Given the description of an element on the screen output the (x, y) to click on. 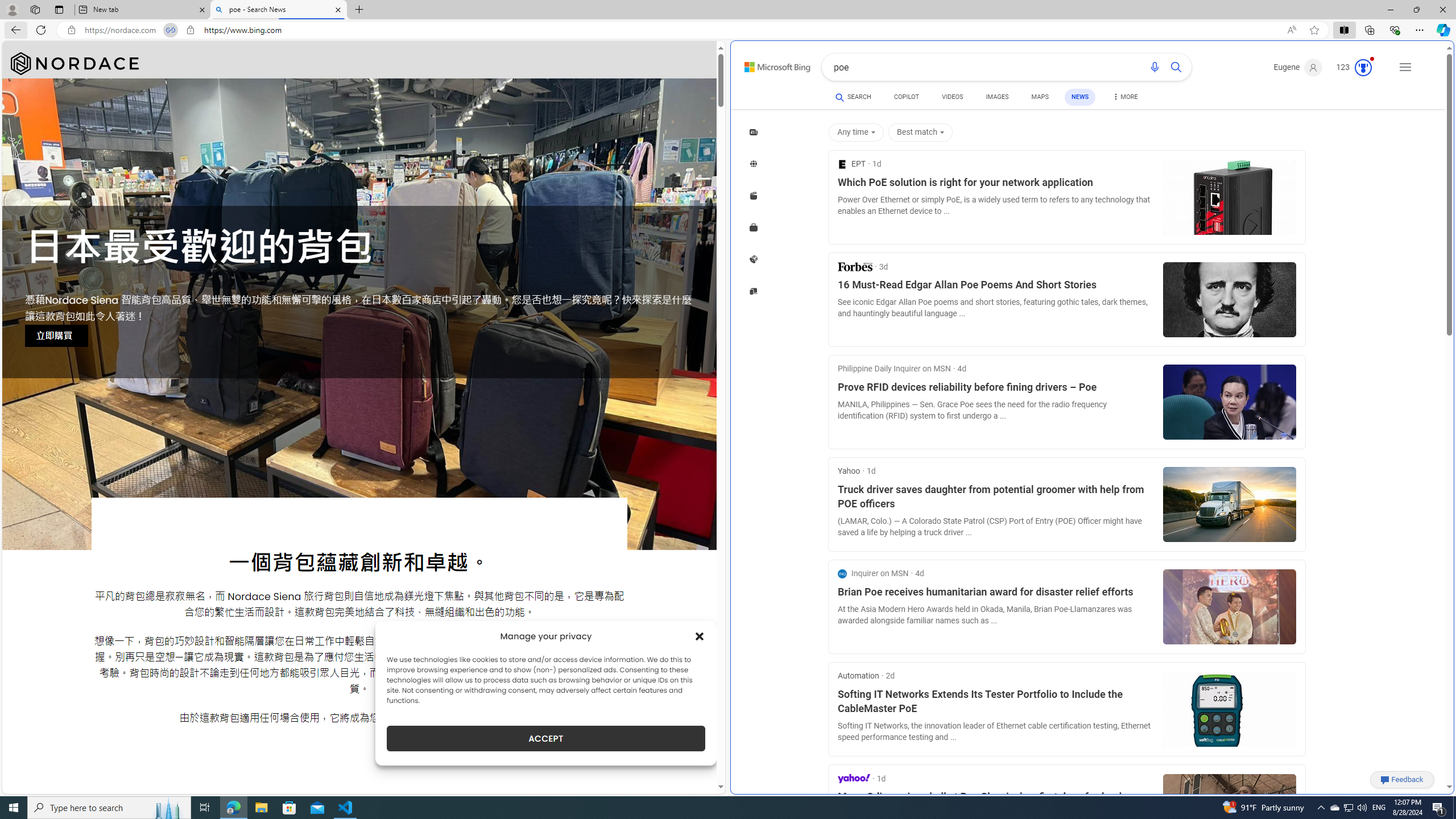
SEARCH (852, 96)
poe - Search News (277, 9)
Class: medal-circled (1363, 67)
Best match (920, 132)
MORE (1124, 98)
